Given the description of an element on the screen output the (x, y) to click on. 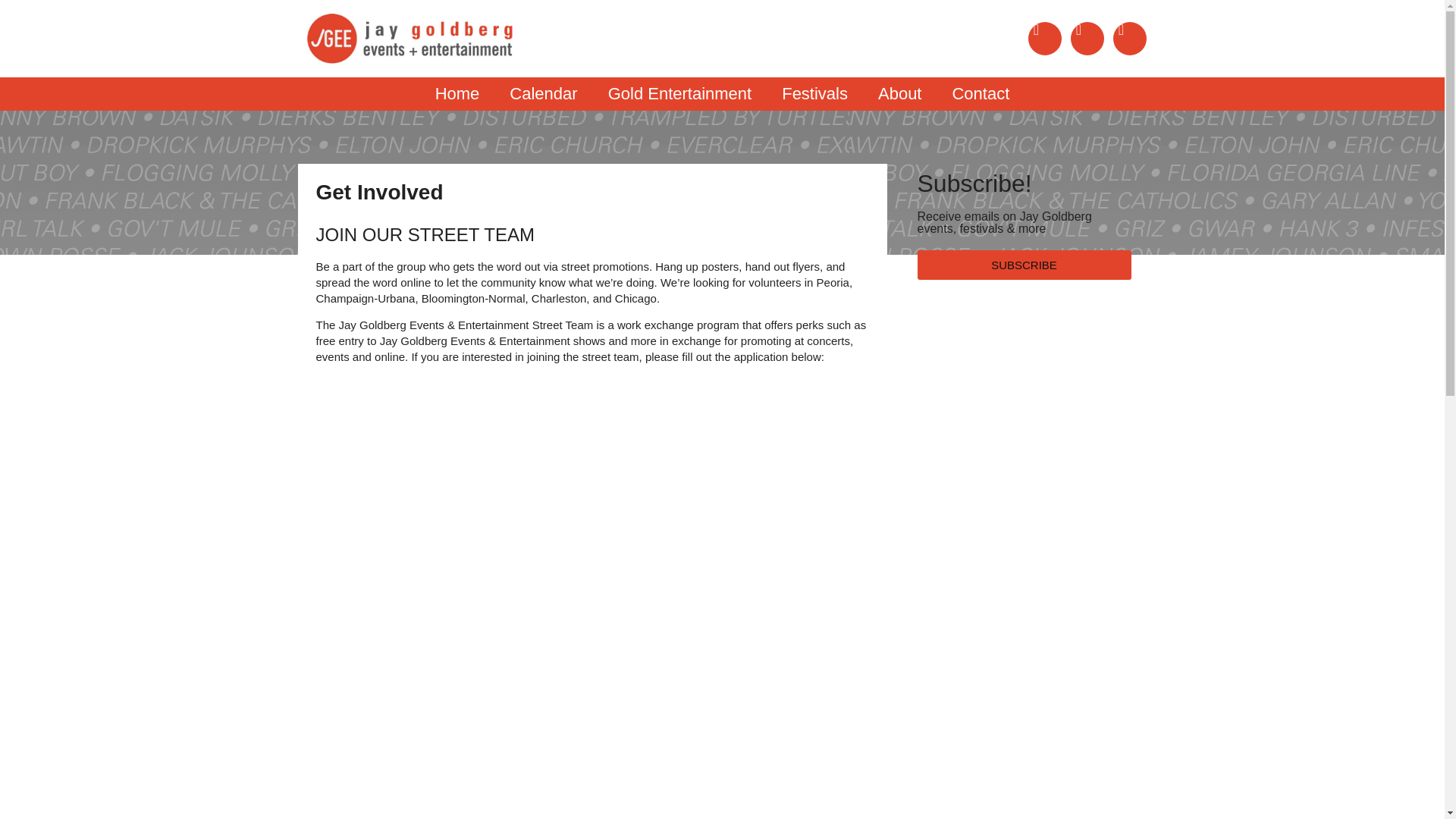
SUBSCRIBE (1024, 265)
About (900, 93)
Festivals (815, 93)
Gold Entertainment (679, 93)
Home (457, 93)
Calendar (543, 93)
Contact (980, 93)
